Given the description of an element on the screen output the (x, y) to click on. 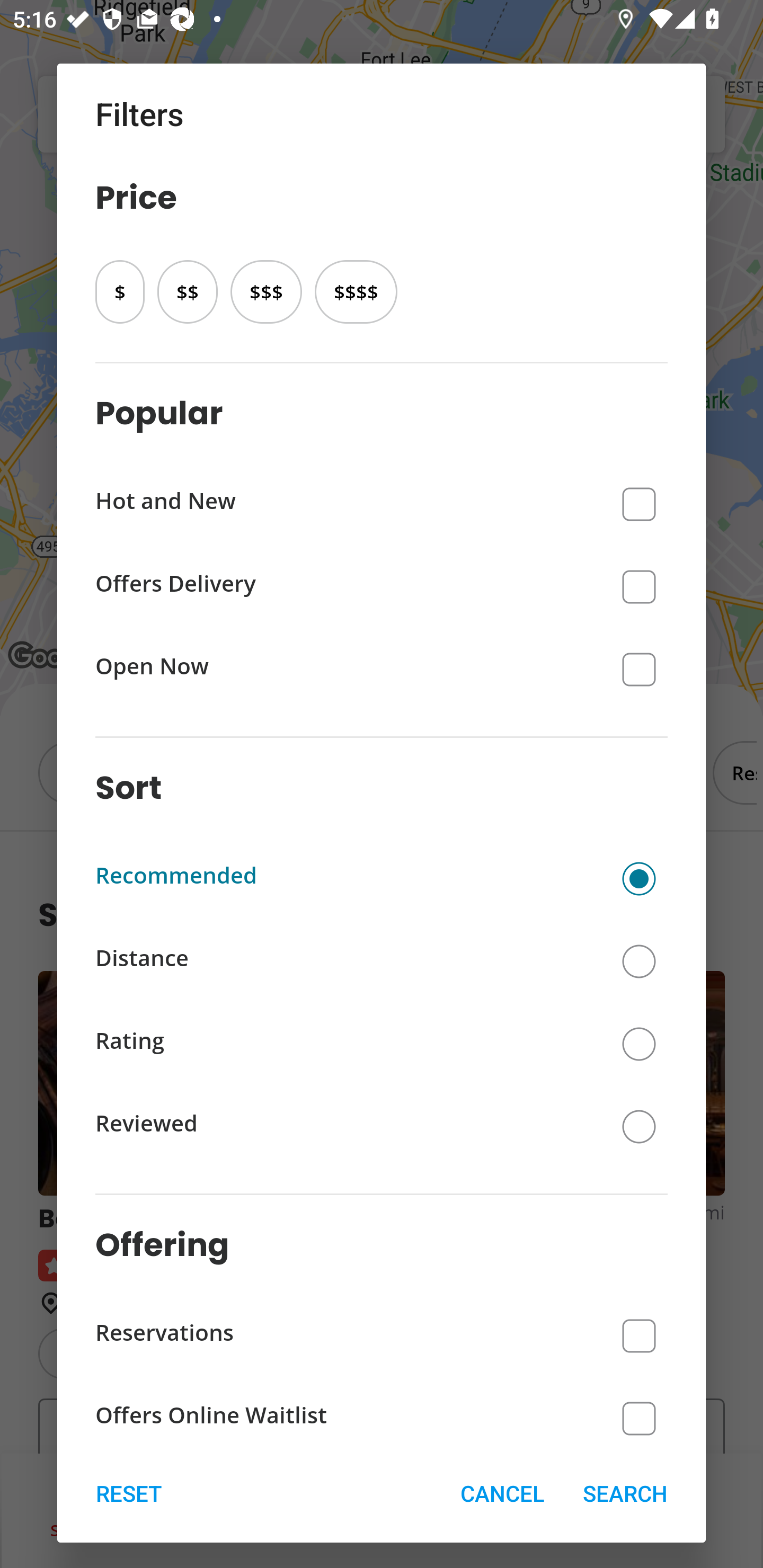
$$ (187, 291)
